Given the description of an element on the screen output the (x, y) to click on. 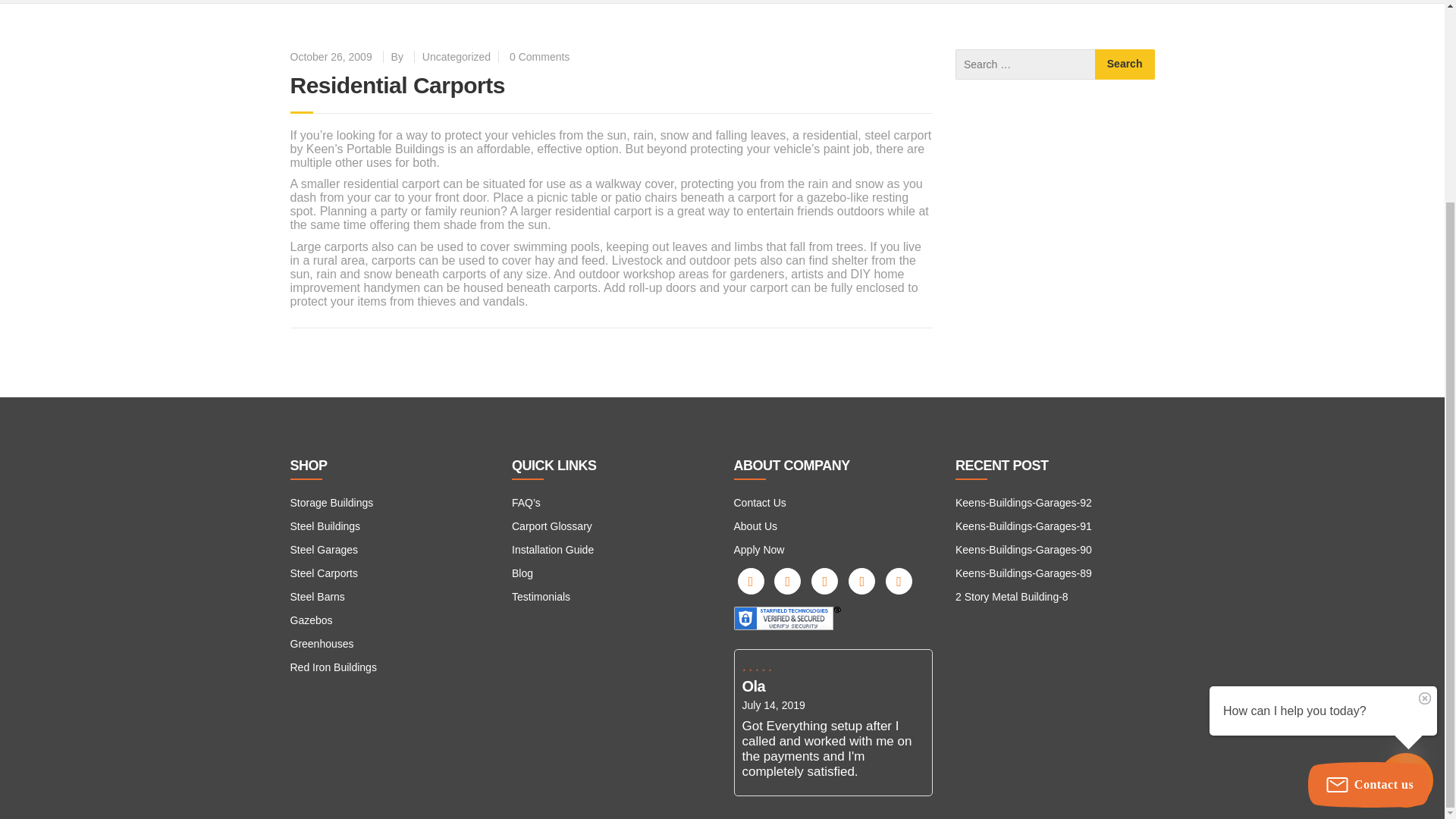
Search (1124, 64)
Steel Barns (316, 596)
Uncategorized (456, 56)
0 Comments (539, 56)
Greenhouses (321, 644)
Steel Carports (322, 573)
Search (1124, 64)
Storage Buildings (330, 502)
Search (1124, 64)
Gazebos (310, 620)
Steel Garages (323, 549)
Red Iron Buildings (332, 666)
Steel Buildings (324, 526)
